Given the description of an element on the screen output the (x, y) to click on. 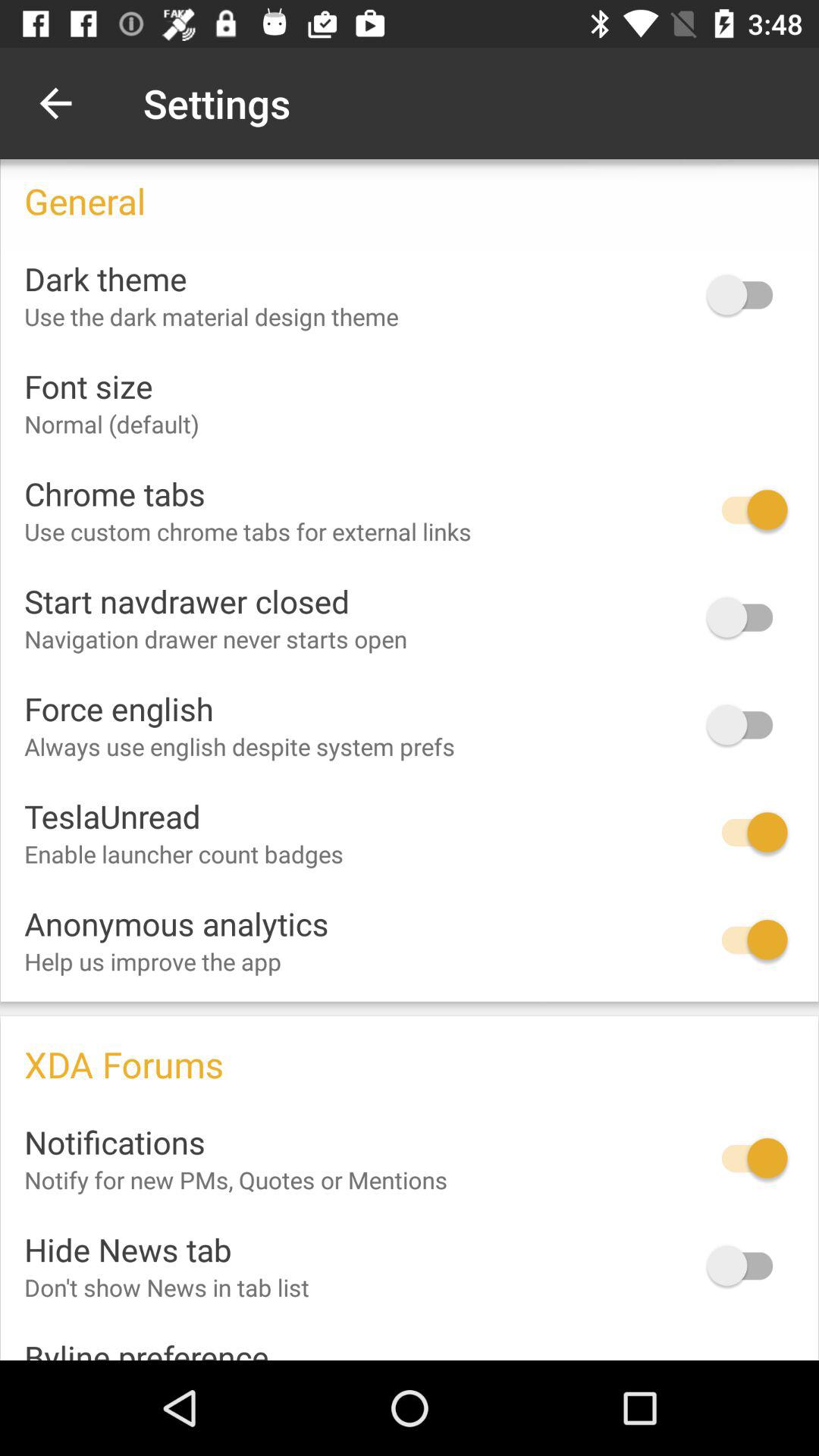
launch the icon next to the hide news tab (747, 1265)
